Given the description of an element on the screen output the (x, y) to click on. 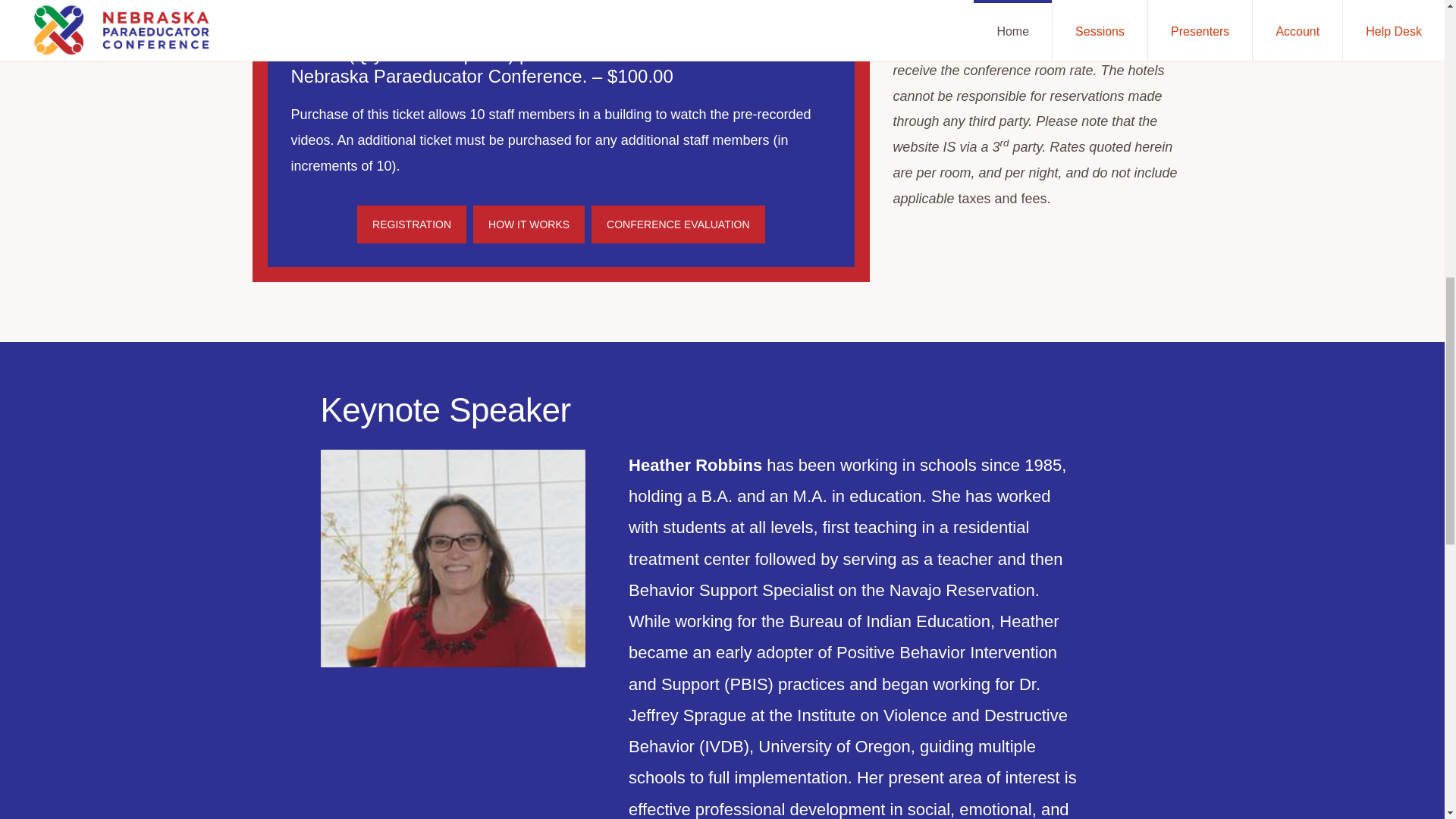
CONFERENCE EVALUATION (678, 224)
HOW IT WORKS (529, 224)
REGISTRATION (410, 224)
